Given the description of an element on the screen output the (x, y) to click on. 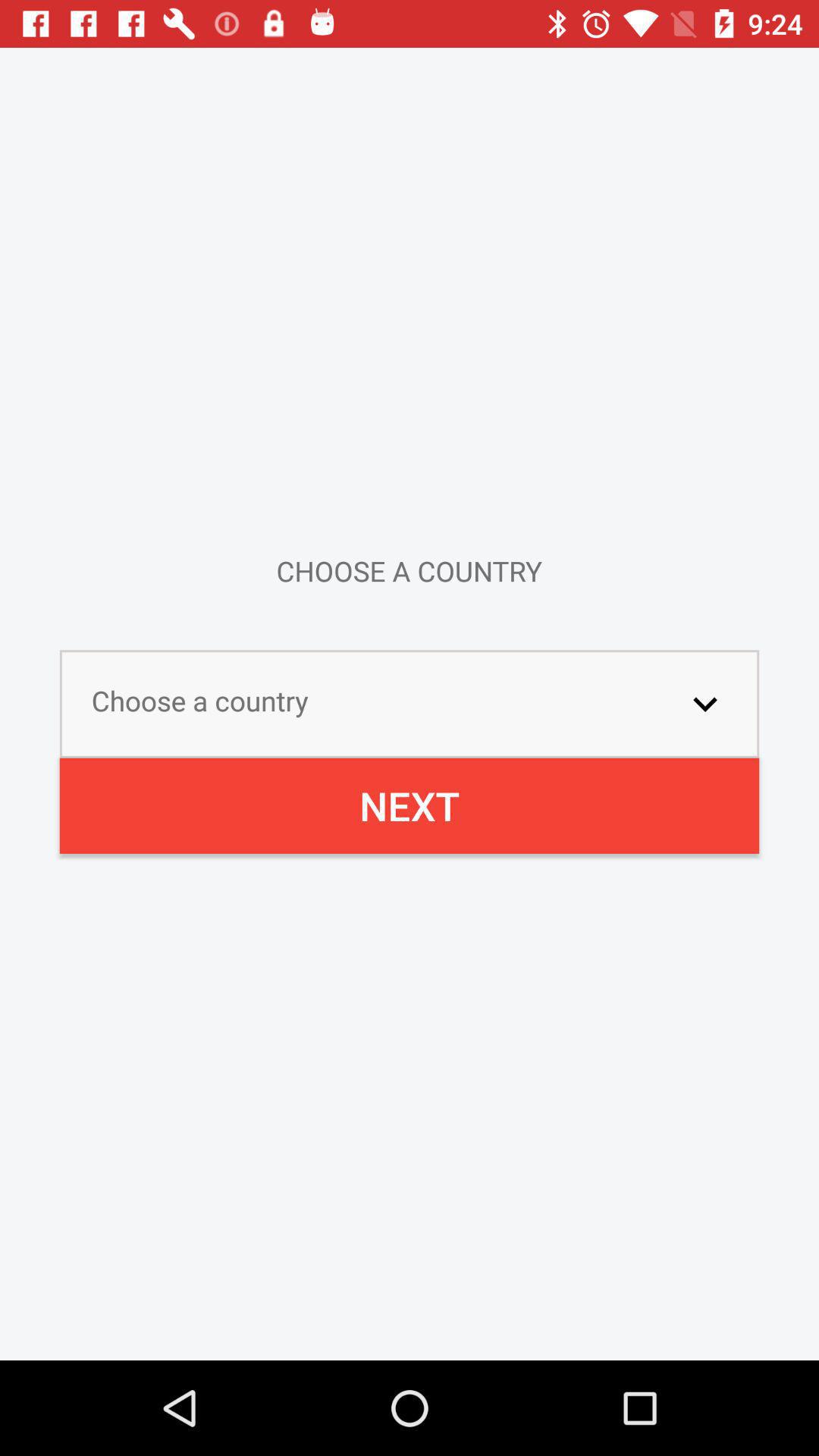
select country (705, 704)
